Given the description of an element on the screen output the (x, y) to click on. 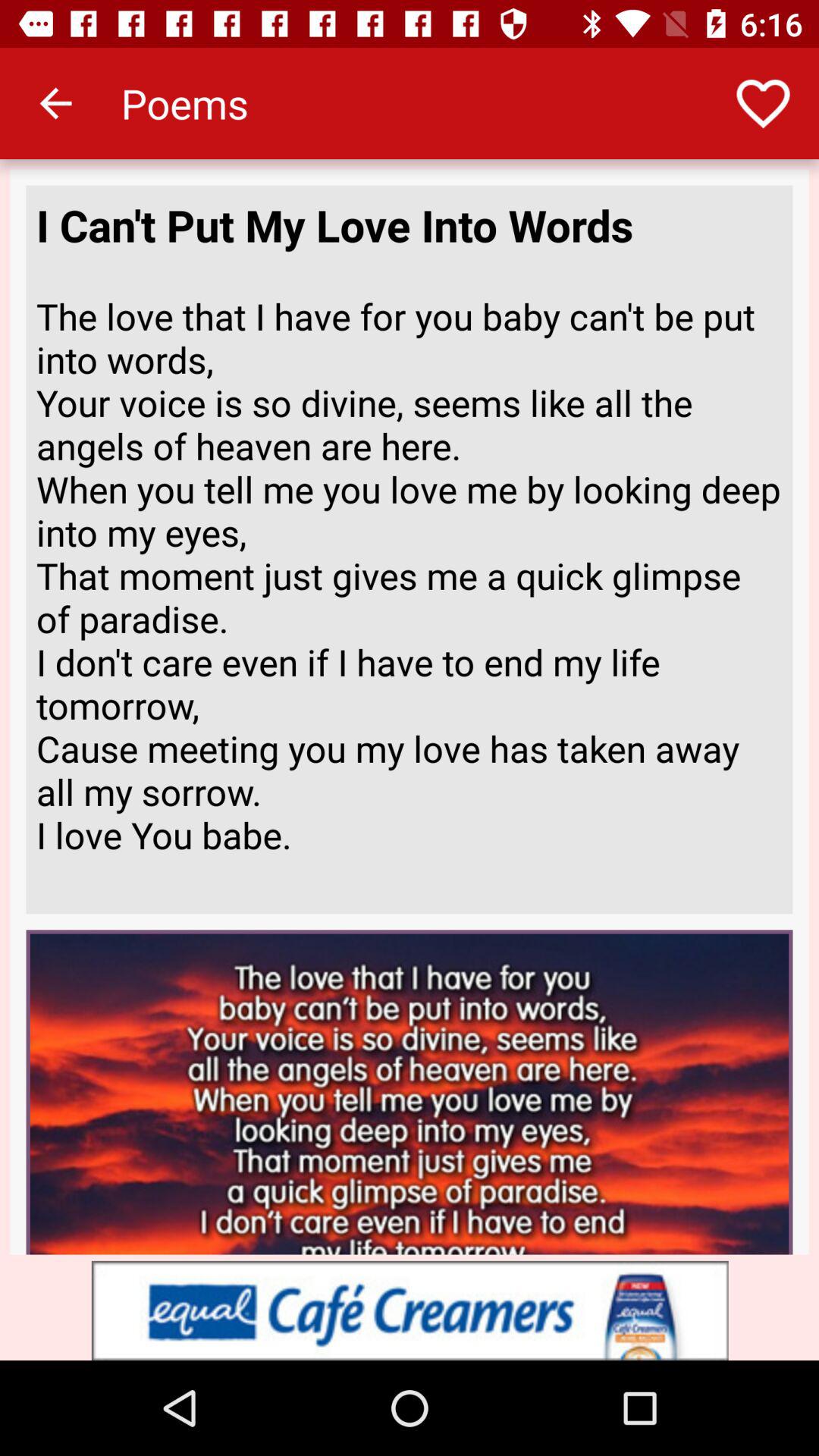
add icon (409, 1310)
